Given the description of an element on the screen output the (x, y) to click on. 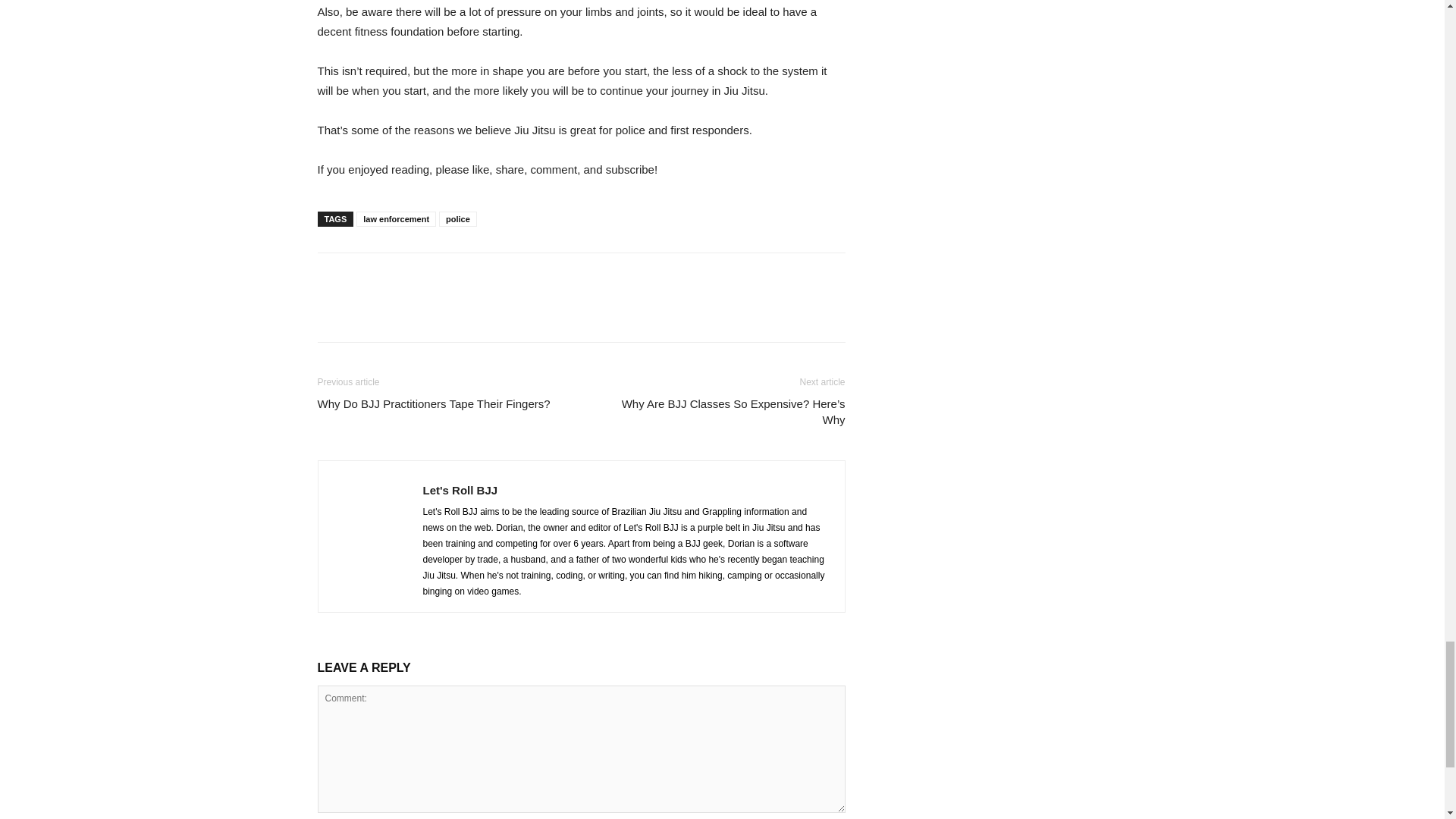
law enforcement (395, 218)
police (458, 218)
